Given the description of an element on the screen output the (x, y) to click on. 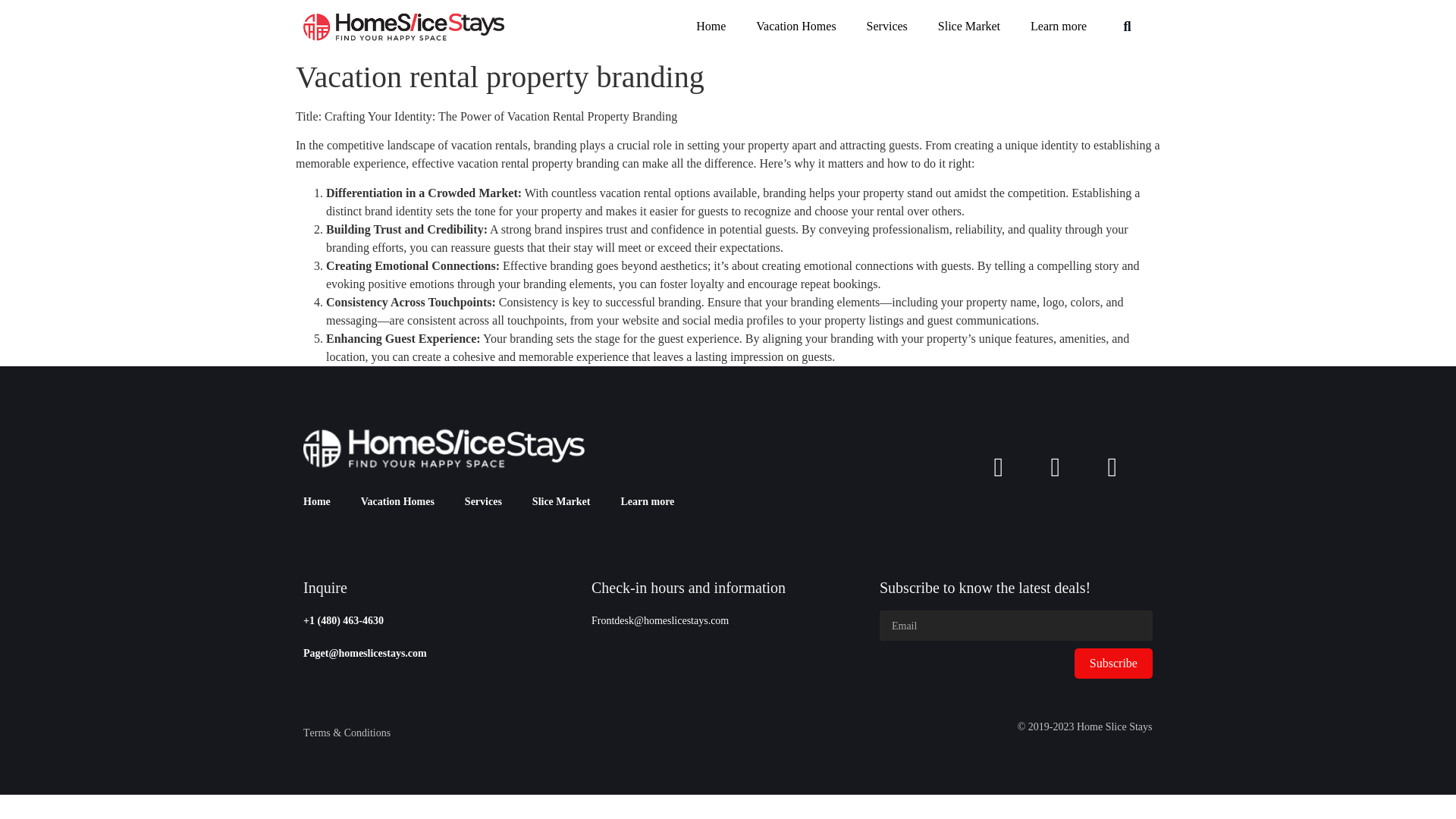
Services (887, 26)
Slice Market (560, 501)
Services (482, 501)
Learn more (1058, 26)
Home (317, 501)
Home (711, 26)
Vacation Homes (795, 26)
Slice Market (968, 26)
Vacation Homes (397, 501)
